Given the description of an element on the screen output the (x, y) to click on. 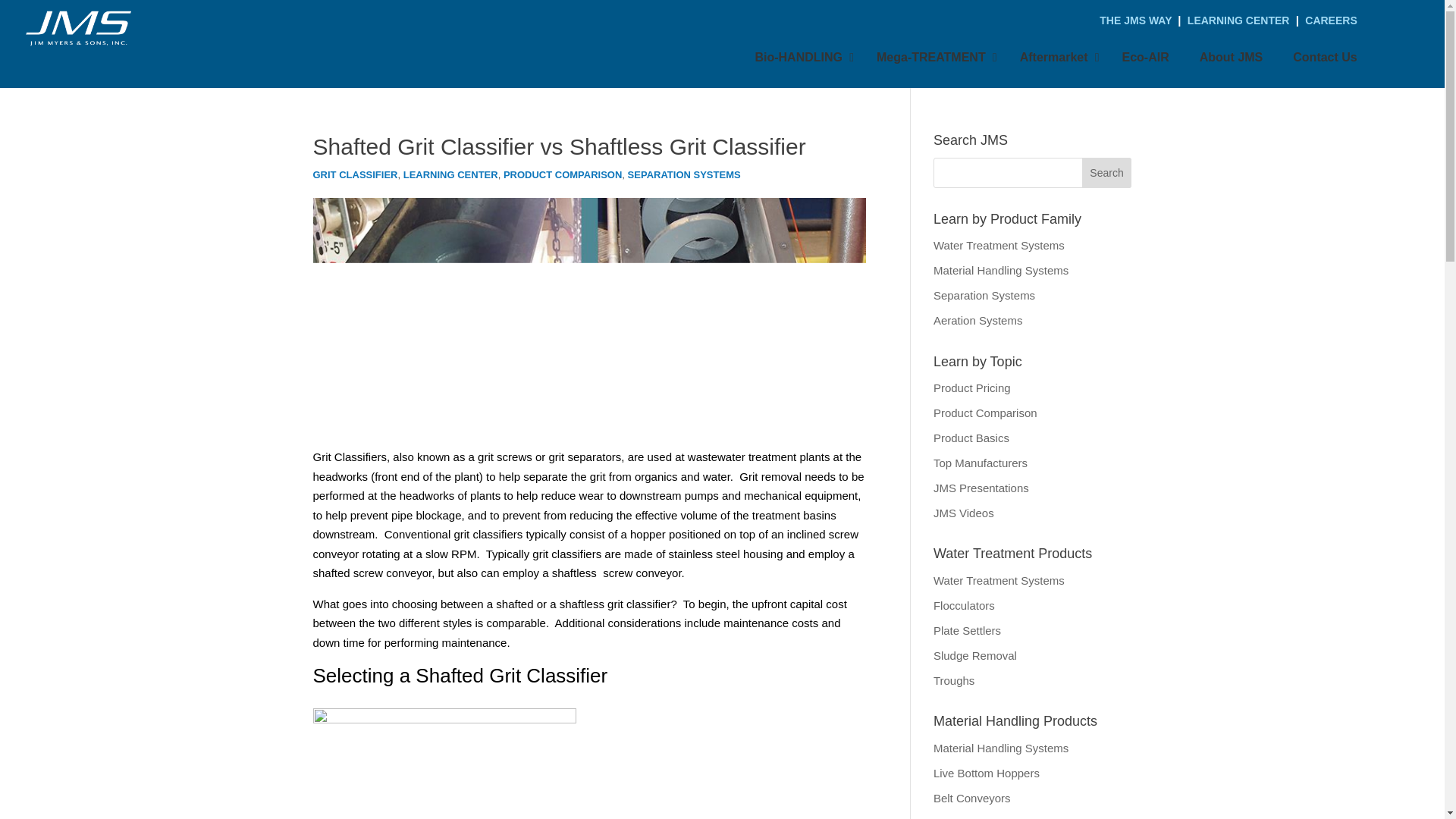
Search (1106, 173)
Bio-HANDLING (800, 56)
JMS-Logo-white (79, 28)
CAREERS (1330, 20)
Mega-TREATMENT (932, 56)
LEARNING CENTER (1239, 20)
THE JMS WAY  (1136, 20)
